Given the description of an element on the screen output the (x, y) to click on. 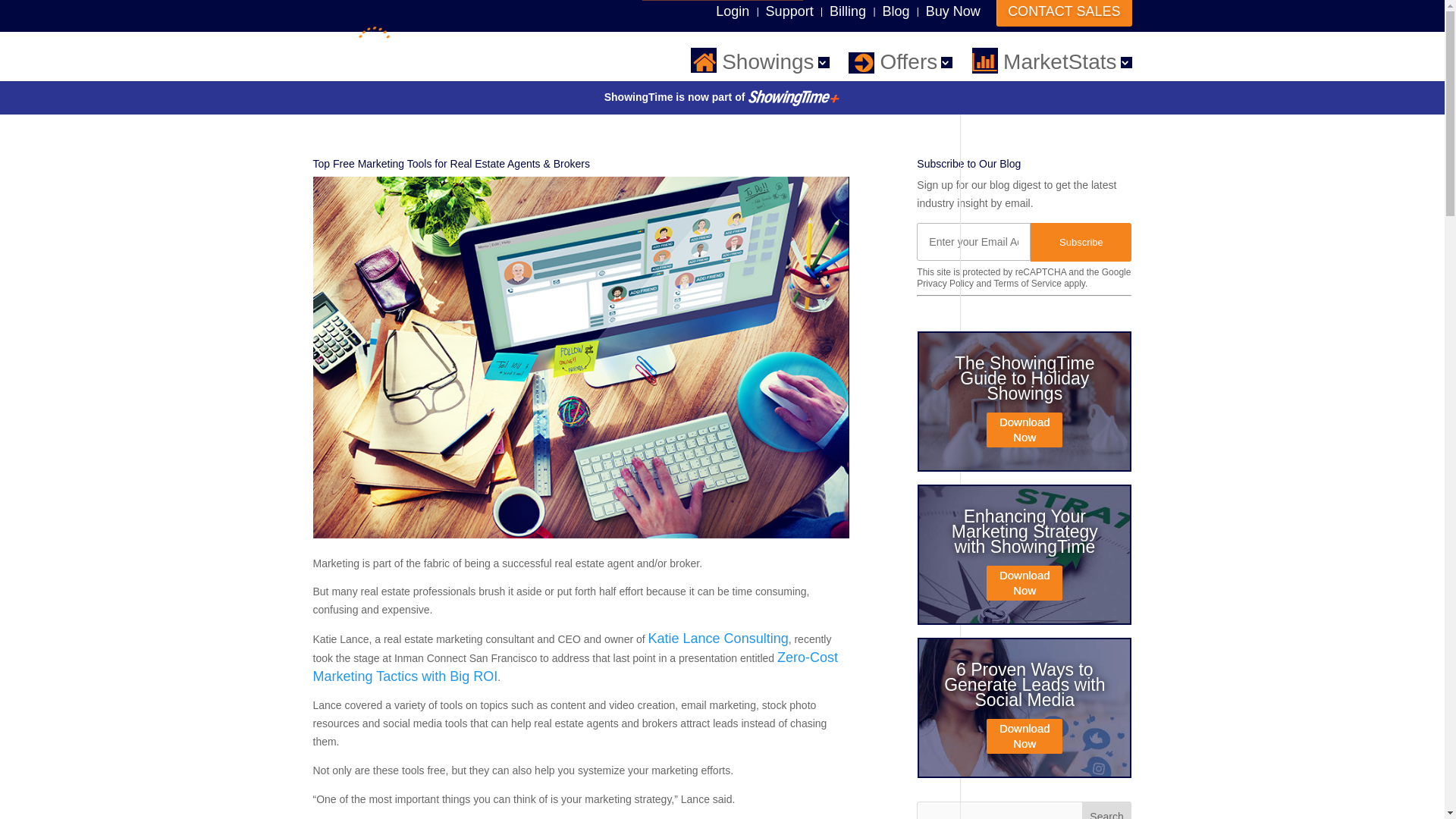
Login (732, 11)
Offers (900, 62)
Blog (895, 11)
MarketStats (1051, 62)
Buy Now (952, 11)
CONTACT SALES (1063, 13)
Showings (759, 62)
Billing (847, 11)
Subscribe (1080, 241)
Support (789, 11)
